Given the description of an element on the screen output the (x, y) to click on. 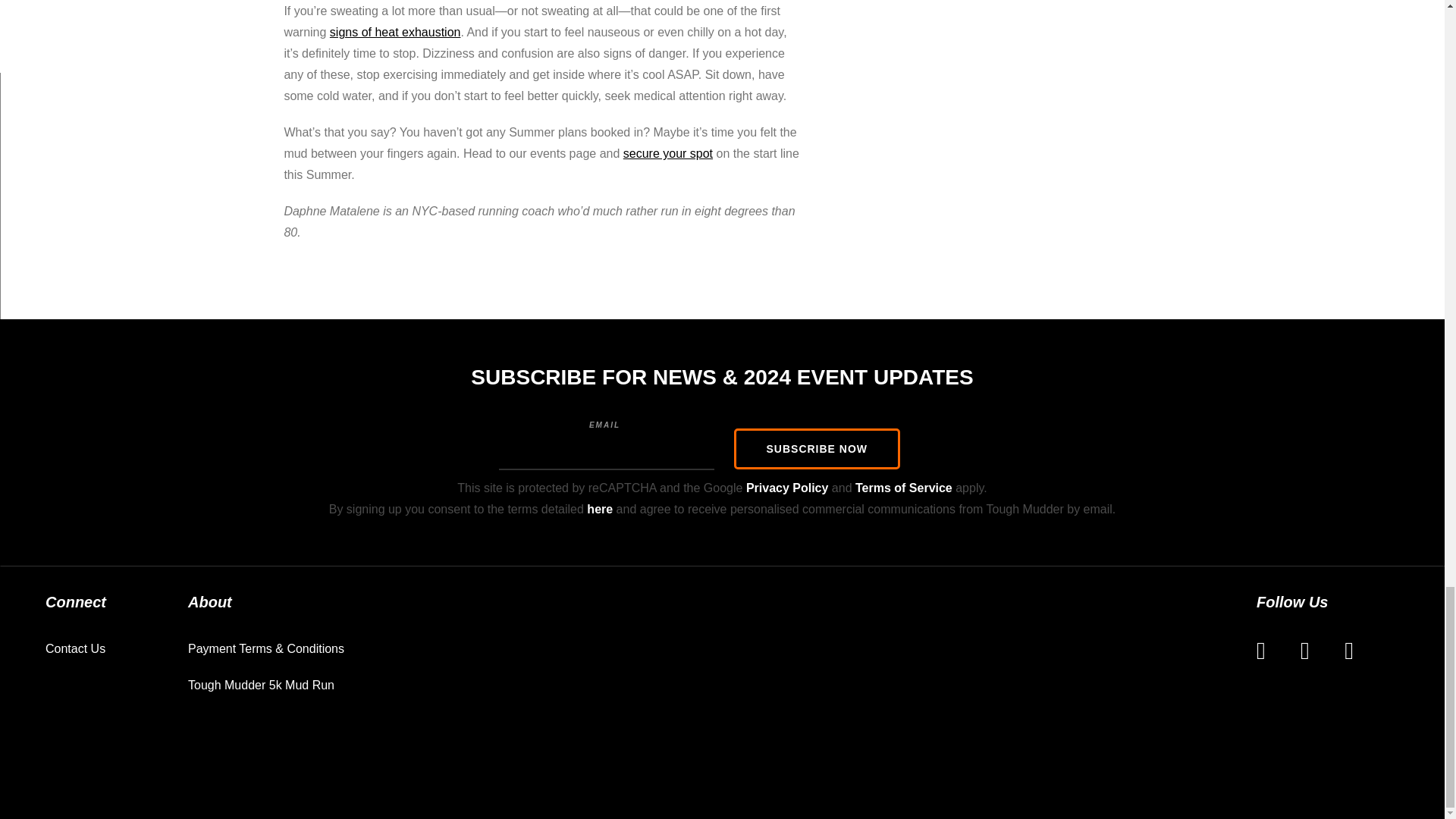
here (599, 508)
Terms of Service (904, 487)
SUBSCRIBE NOW (817, 448)
Connect (116, 601)
Follow Us (1327, 601)
signs of heat exhaustion (395, 31)
Tough Mudder 5k Mud Run (266, 685)
About (271, 601)
Contact Us (80, 649)
Privacy Policy (786, 487)
SUBSCRIBE NOW (817, 448)
secure your spot (668, 153)
